Given the description of an element on the screen output the (x, y) to click on. 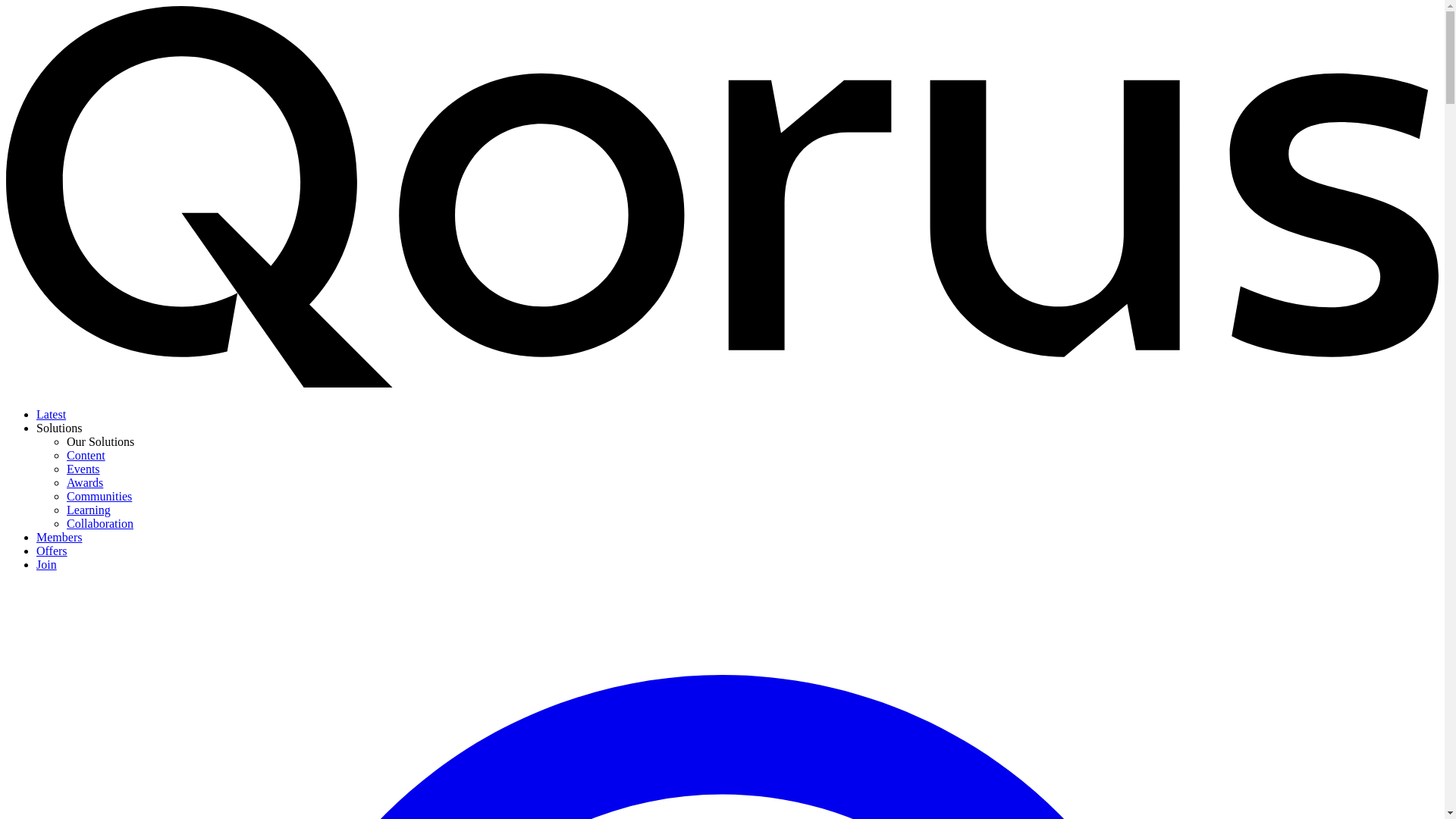
Events (83, 468)
Content (85, 454)
Awards (84, 481)
Offers (51, 550)
Join (46, 563)
Learning (88, 509)
Members (58, 536)
Solutions (58, 427)
Communities (99, 495)
Latest (50, 413)
Collaboration (99, 522)
